Given the description of an element on the screen output the (x, y) to click on. 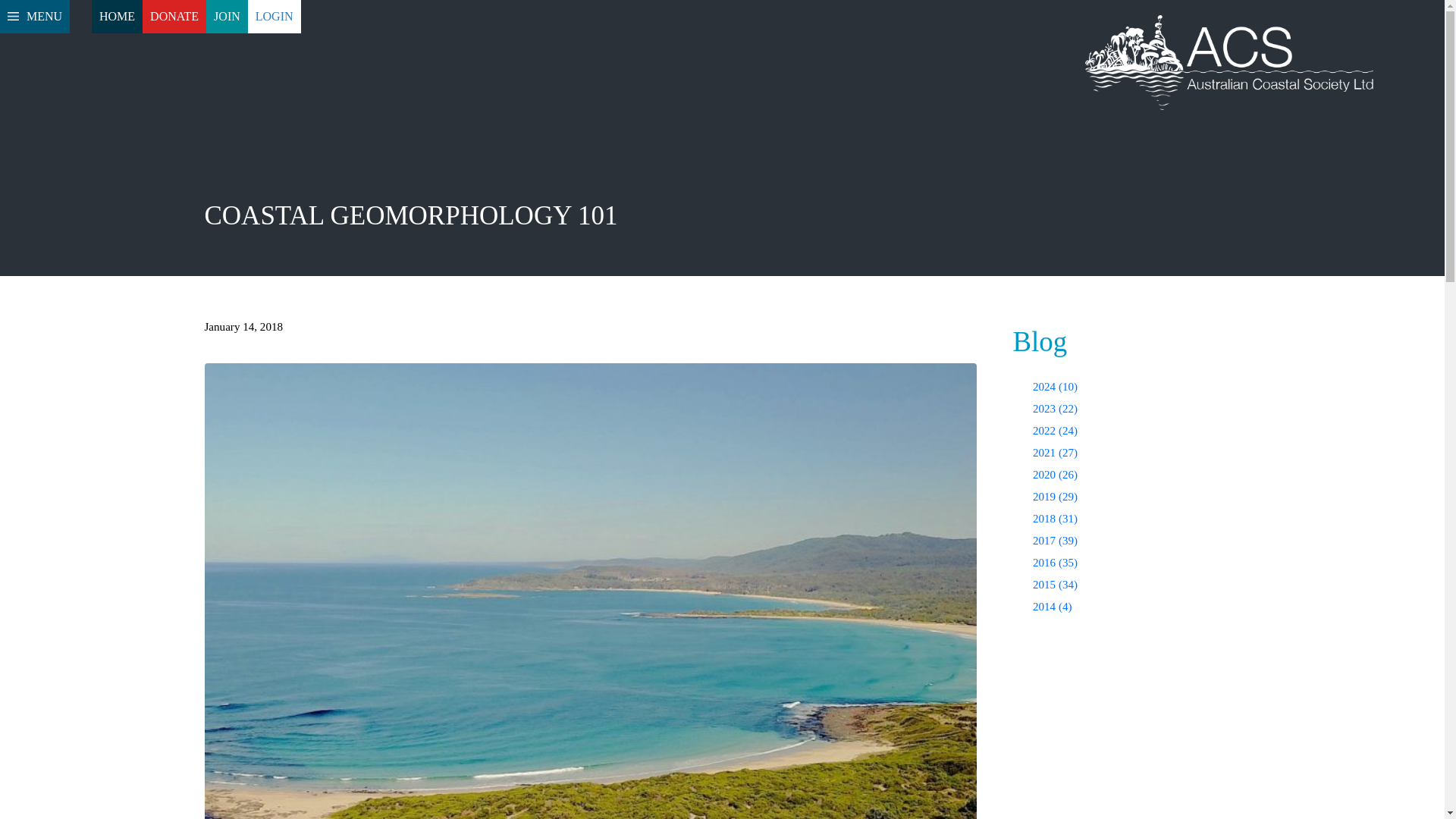
JOIN (226, 16)
DONATE (174, 16)
LOGIN (274, 16)
MENU (34, 16)
HOME (116, 16)
